Given the description of an element on the screen output the (x, y) to click on. 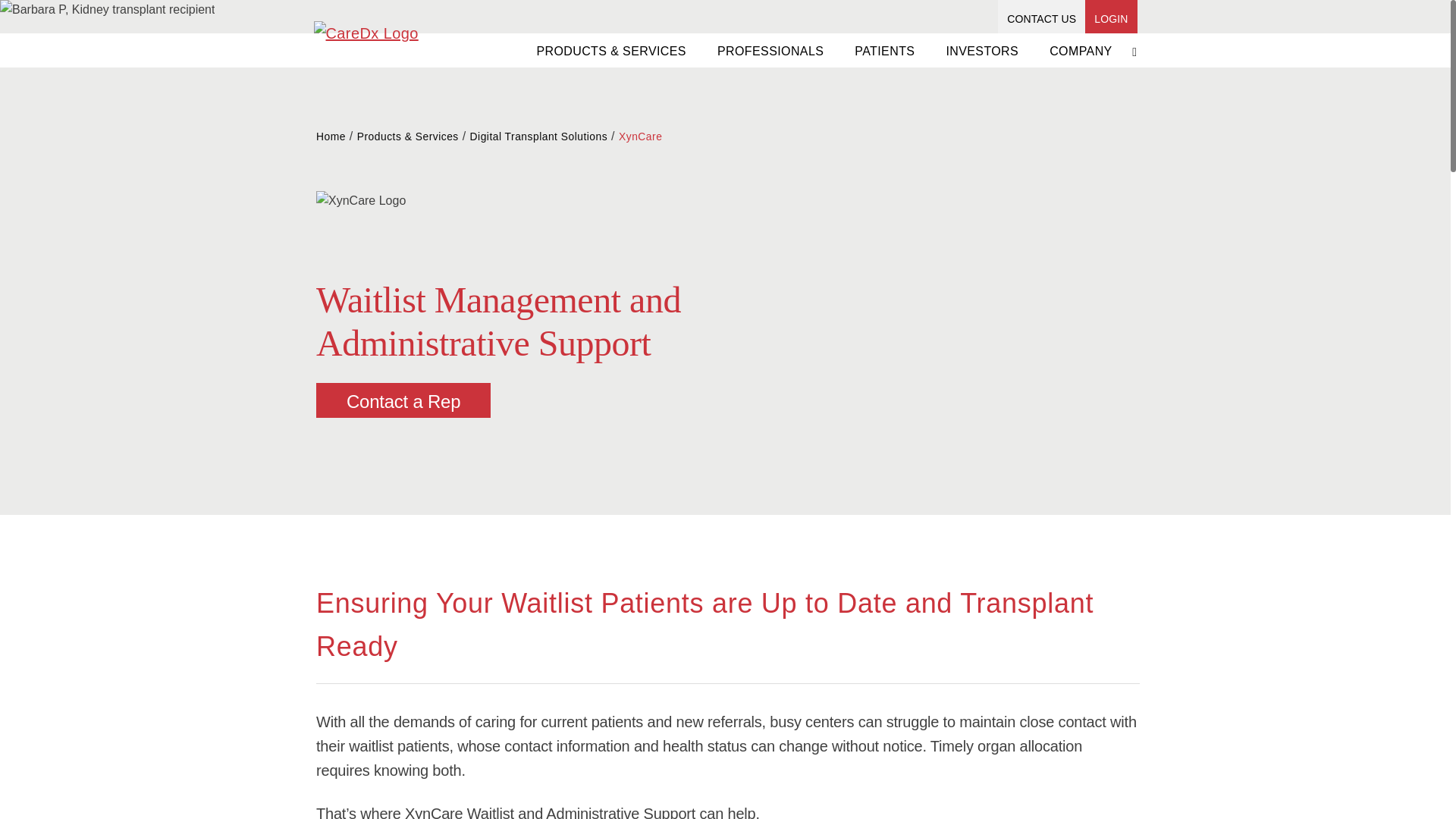
LOGIN (1110, 19)
CareDx Logo (366, 33)
CONTACT US (1041, 19)
